Given the description of an element on the screen output the (x, y) to click on. 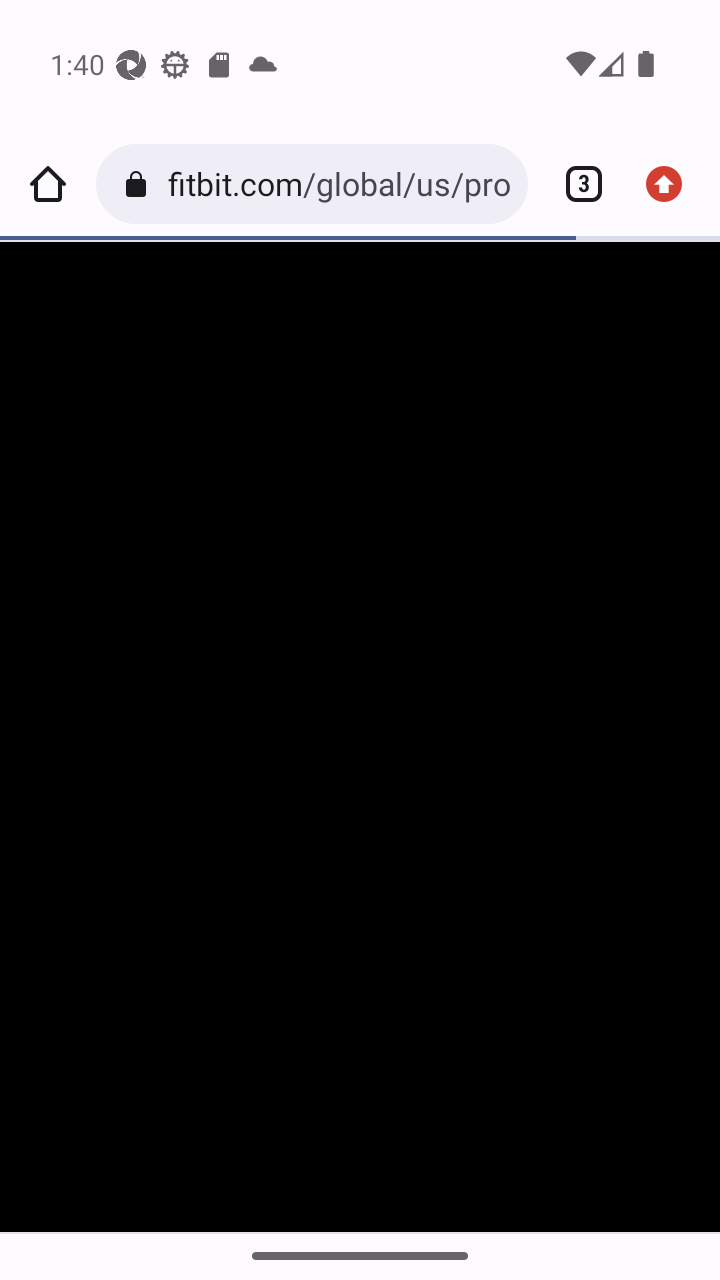
Home (47, 184)
Connection is secure (139, 184)
Switch or close tabs (575, 184)
Update available. More options (672, 184)
fitbit.com/global/us/products (339, 184)
